Given the description of an element on the screen output the (x, y) to click on. 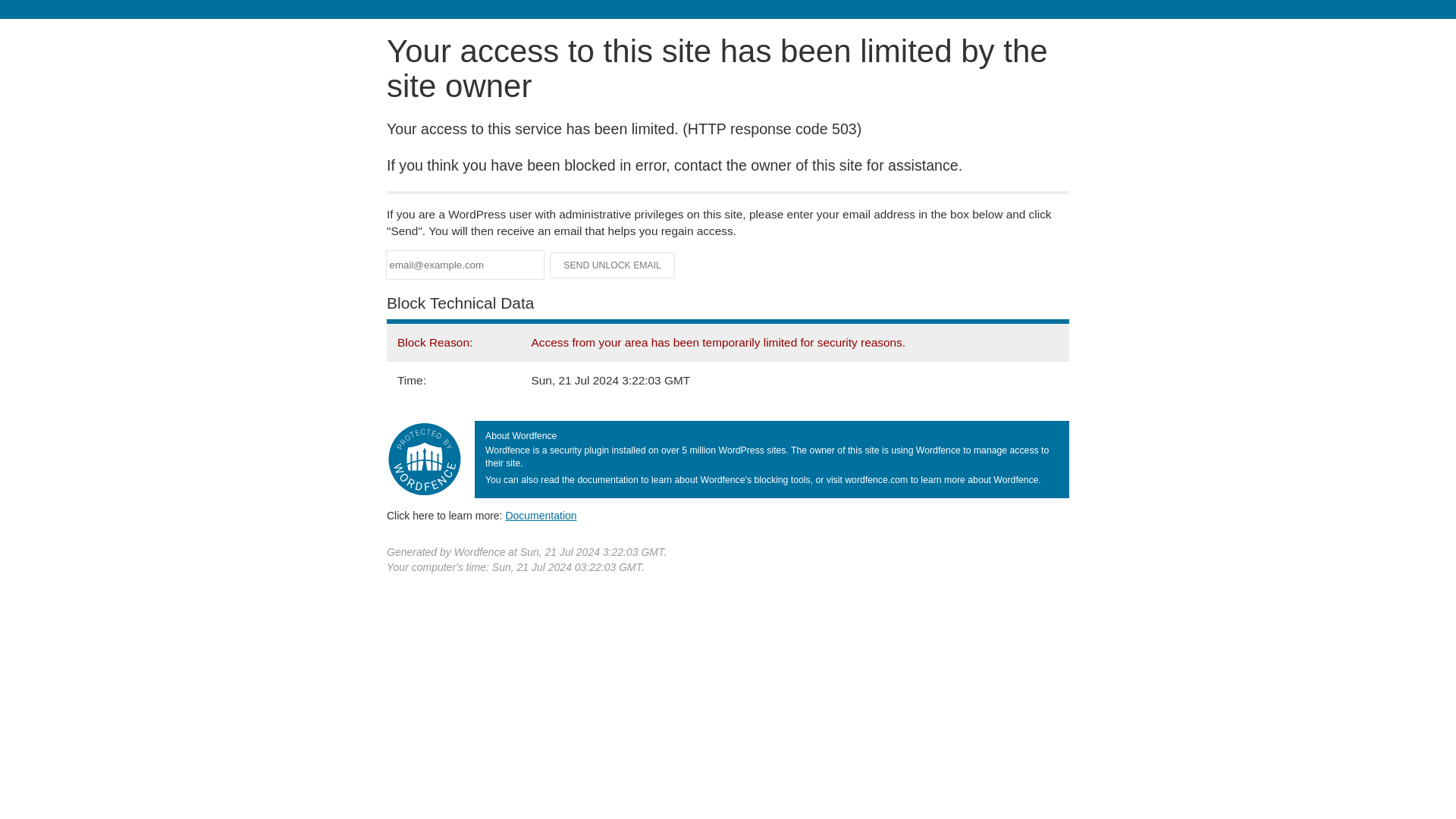
Documentation (540, 515)
Send Unlock Email (612, 265)
Send Unlock Email (612, 265)
